Given the description of an element on the screen output the (x, y) to click on. 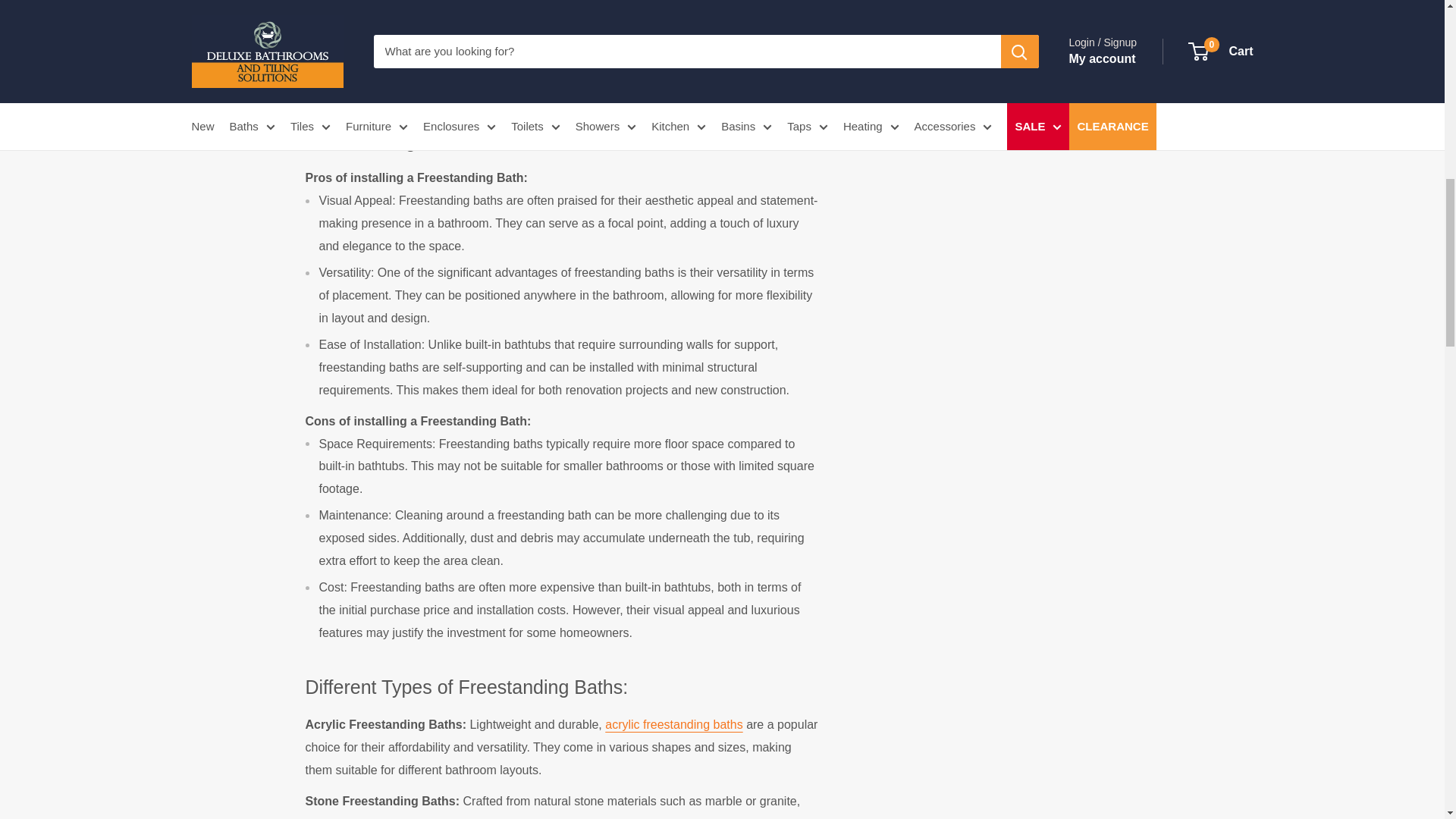
freestanding stone baths (371, 818)
freestanding baths (379, 17)
built in bathtubs (549, 17)
Acrylic Freestanding Baths (673, 724)
